Given the description of an element on the screen output the (x, y) to click on. 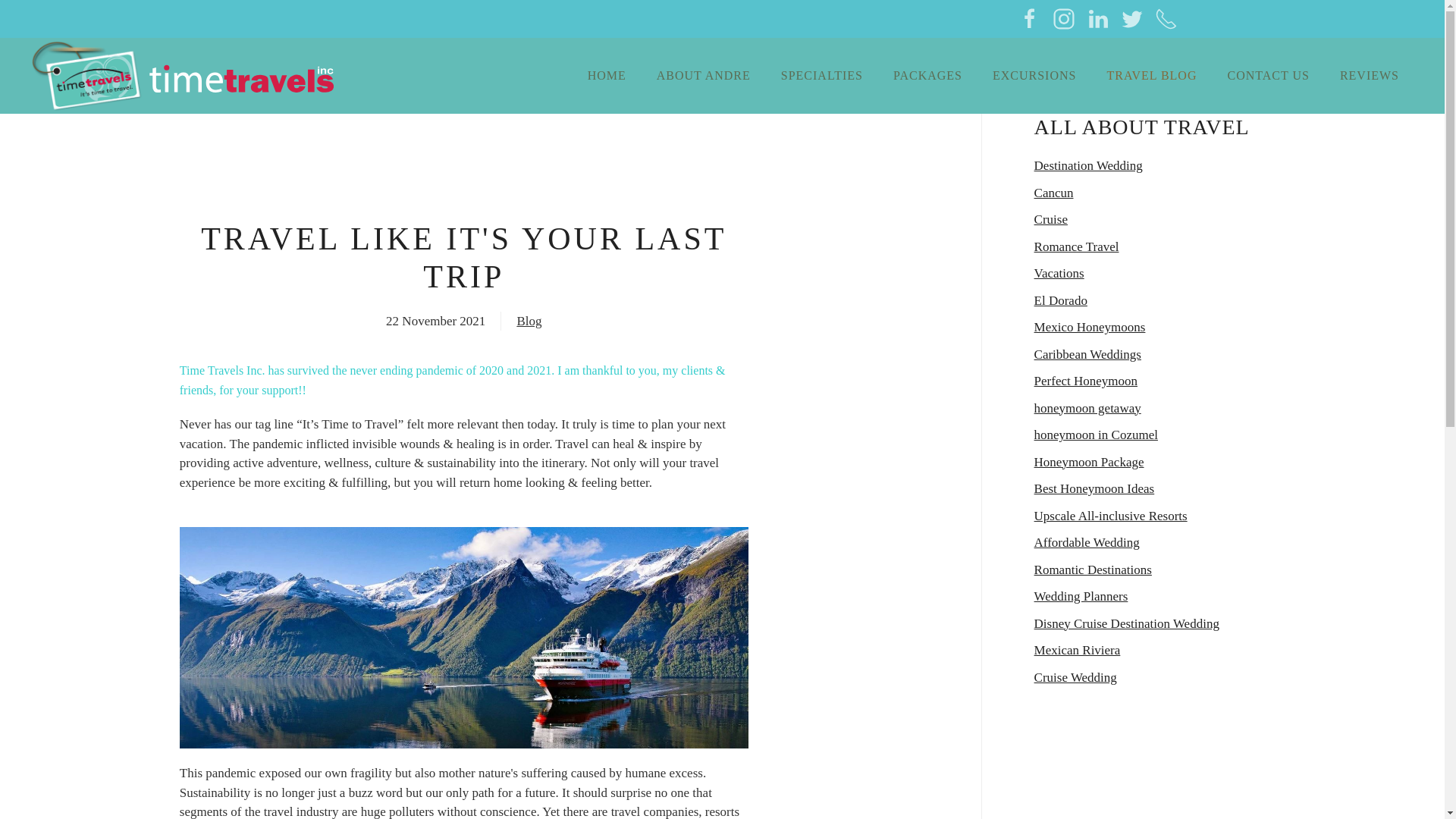
EXCURSIONS (1033, 75)
PACKAGES (926, 75)
HOME (607, 75)
ABOUT ANDRE (703, 75)
SPECIALTIES (821, 75)
